Given the description of an element on the screen output the (x, y) to click on. 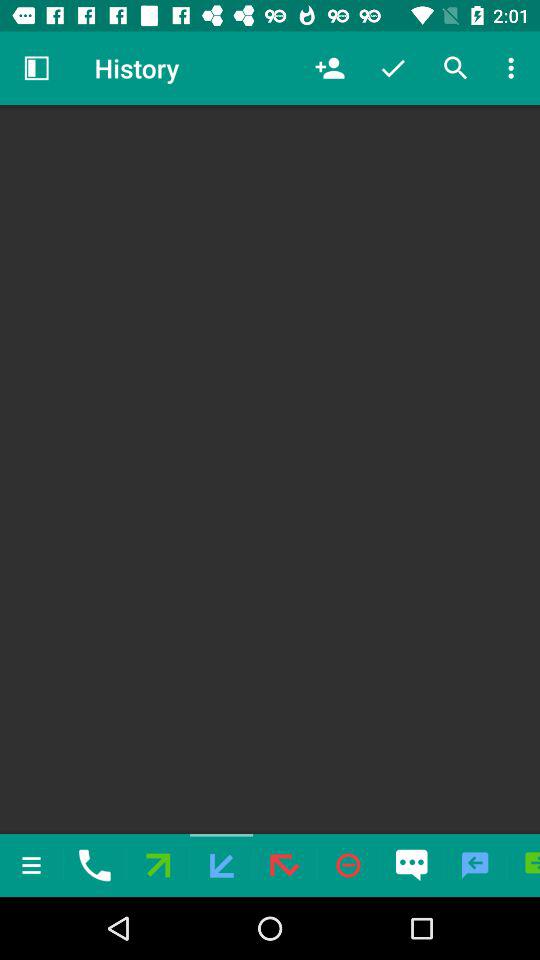
turn off the icon next to history item (36, 68)
